Given the description of an element on the screen output the (x, y) to click on. 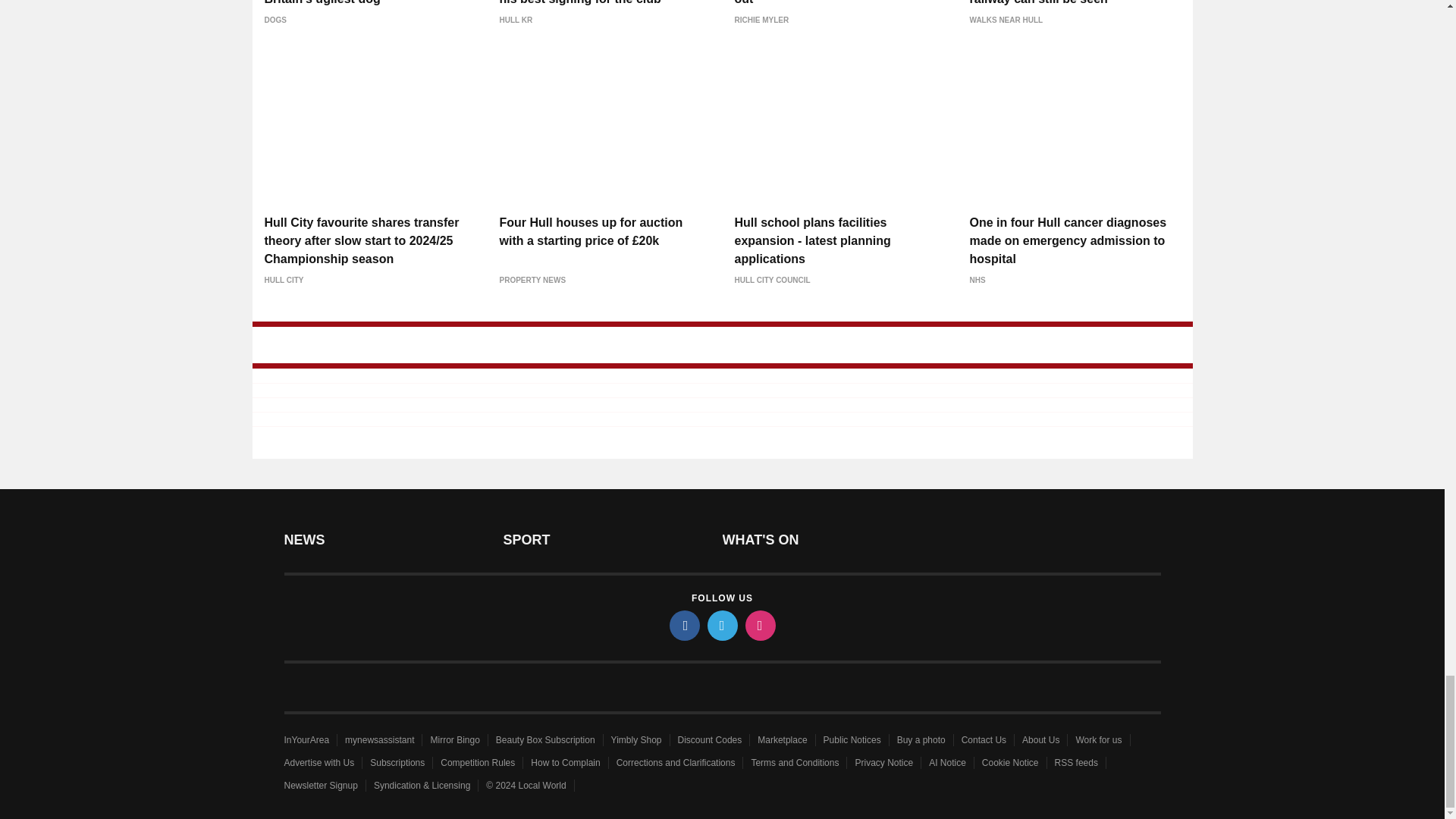
instagram (759, 625)
twitter (721, 625)
facebook (683, 625)
